Given the description of an element on the screen output the (x, y) to click on. 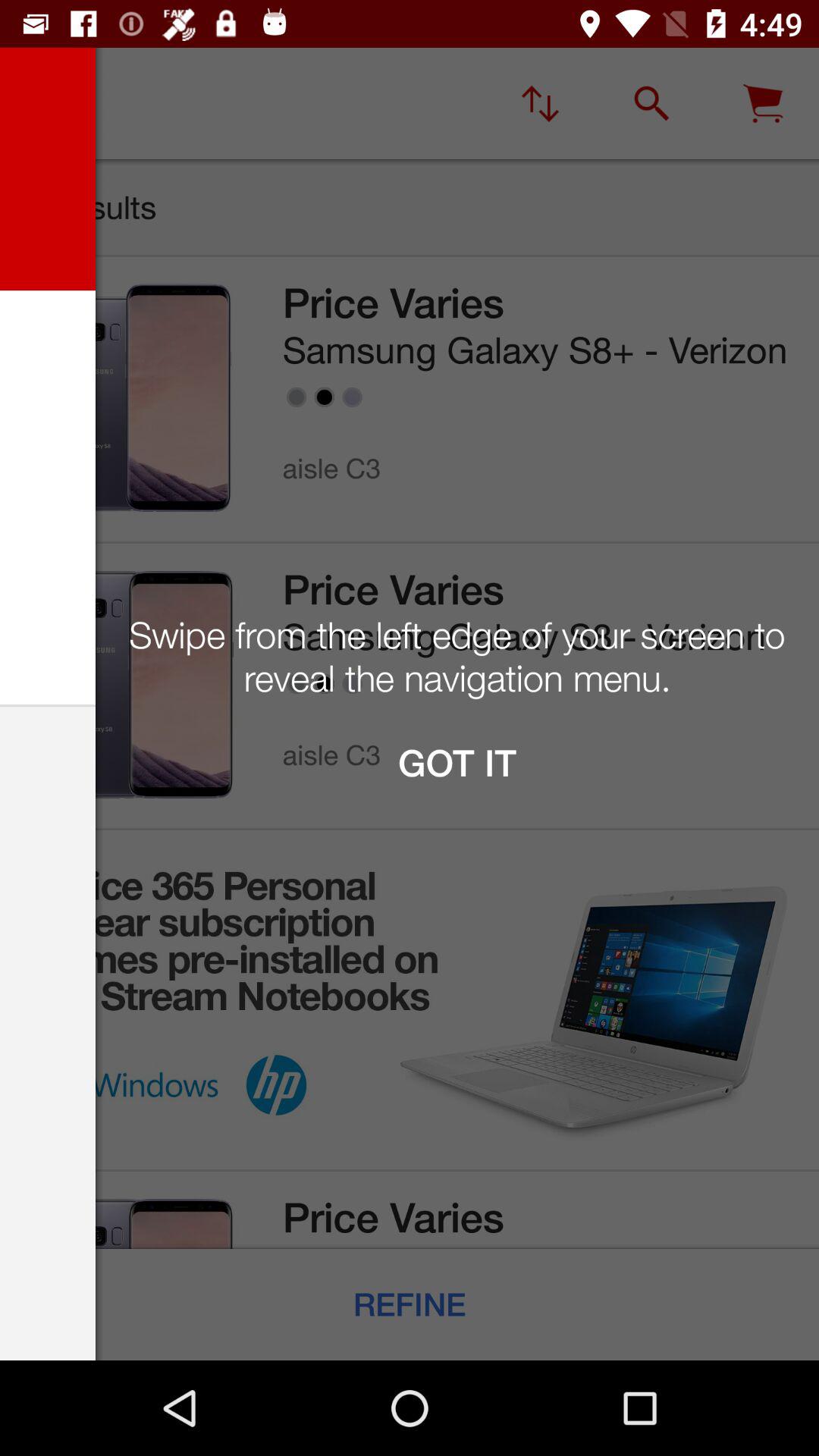
choose icon below the swipe from the icon (457, 763)
